Given the description of an element on the screen output the (x, y) to click on. 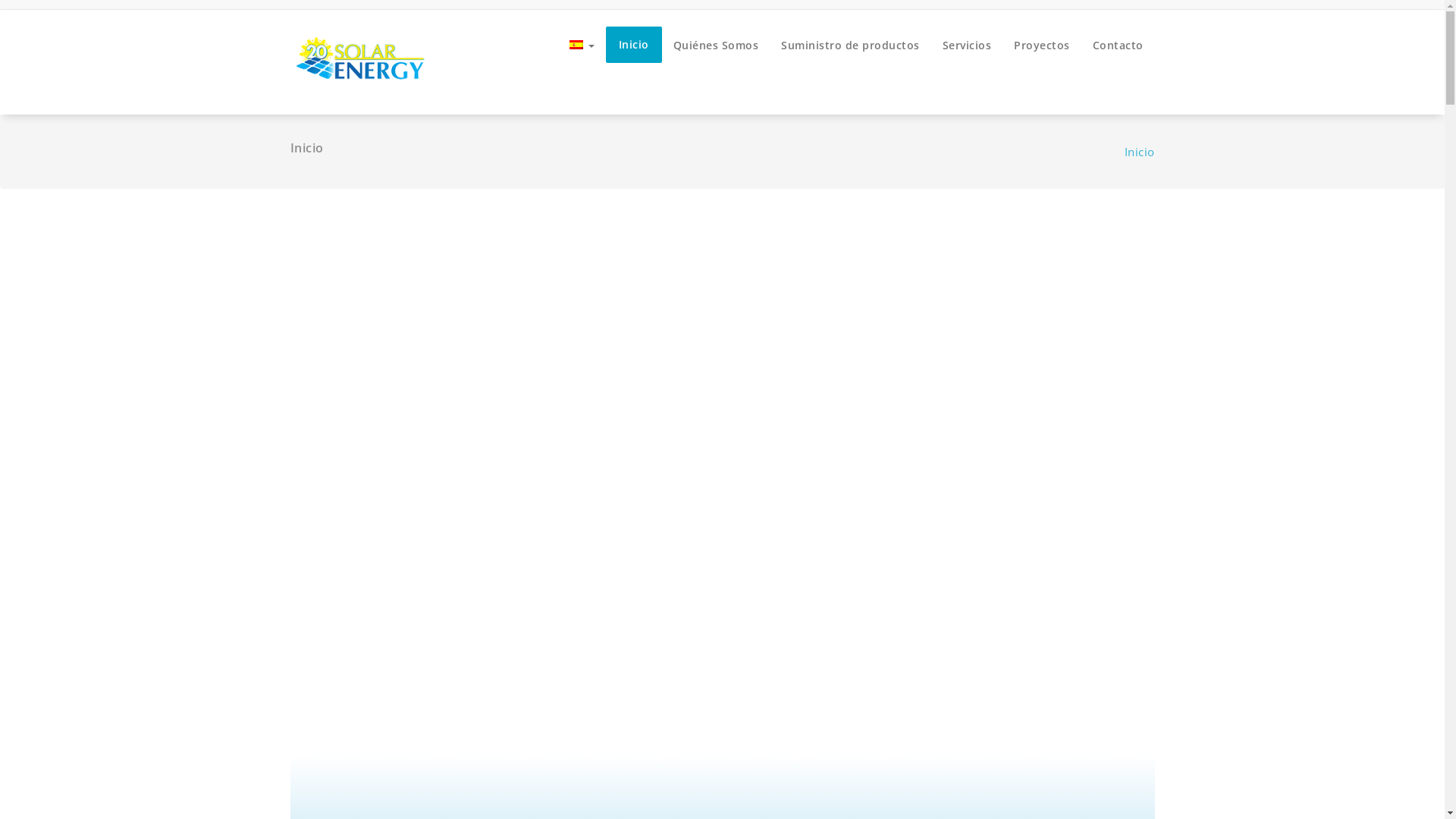
Inicio Element type: text (633, 44)
Suministro de productos Element type: text (850, 45)
Inicio Element type: text (1138, 151)
Proyectos Element type: text (1041, 45)
Servicios Element type: text (967, 45)
Contacto Element type: text (1117, 45)
